Given the description of an element on the screen output the (x, y) to click on. 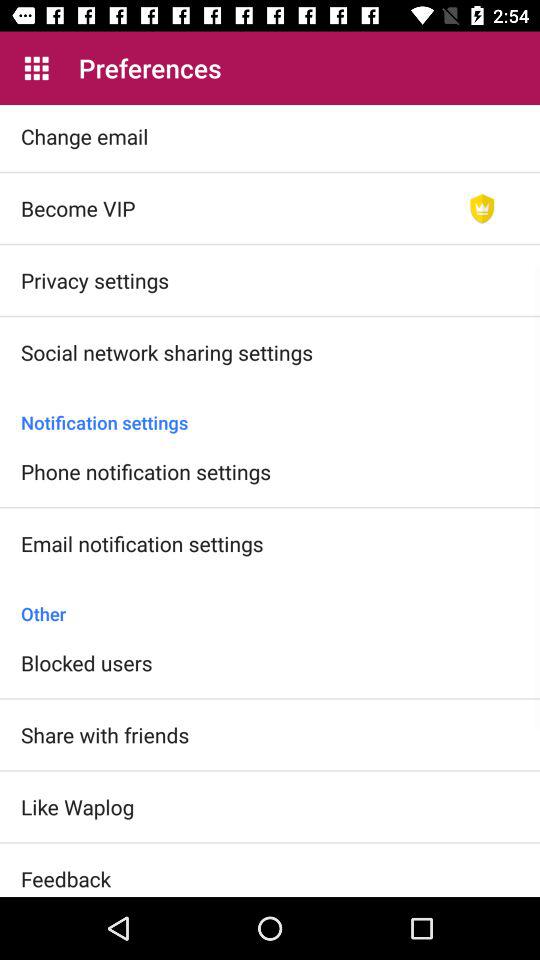
turn off item to the right of become vip item (482, 208)
